Given the description of an element on the screen output the (x, y) to click on. 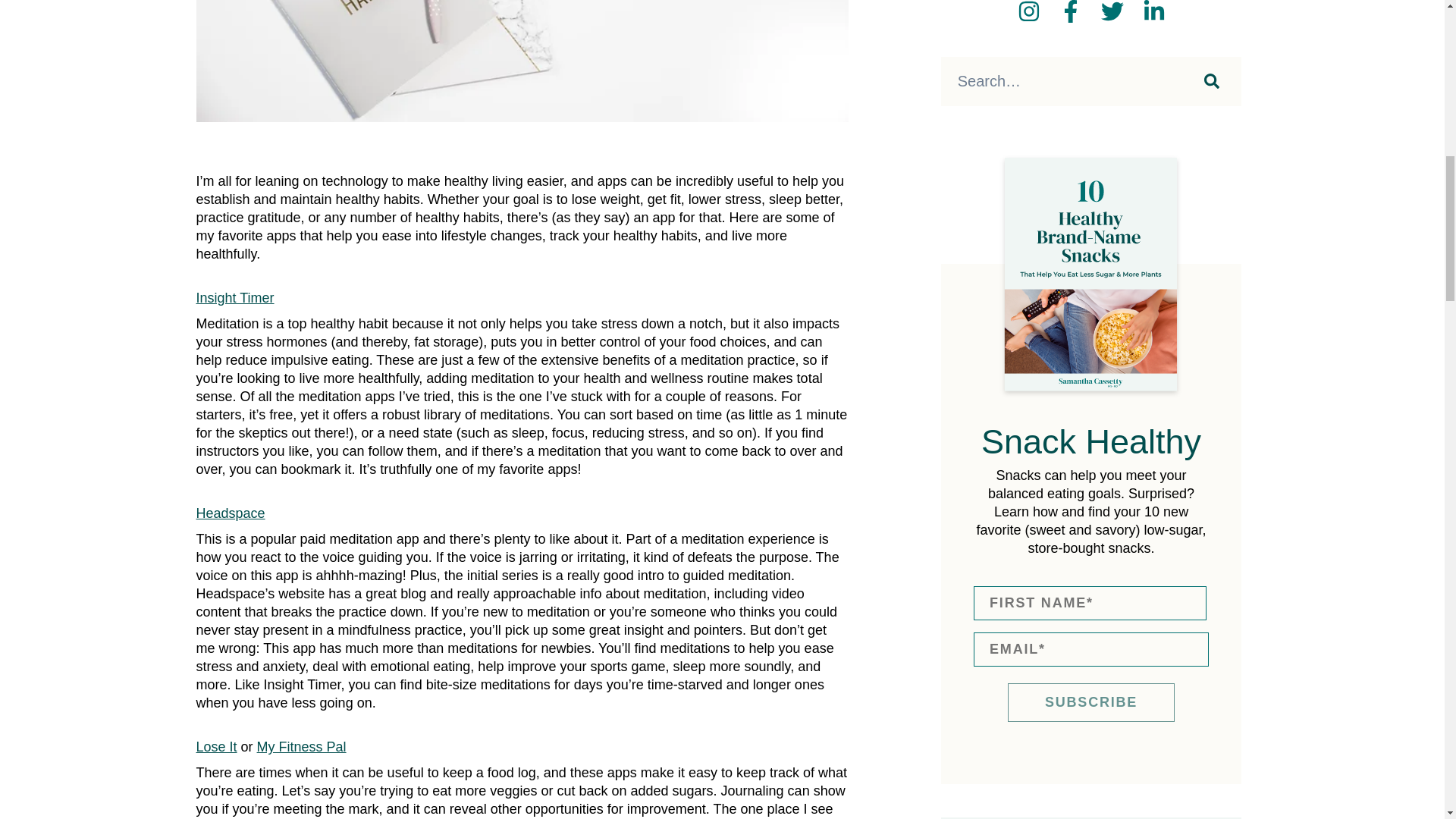
SUBSCRIBE (1090, 702)
Insight Timer (234, 297)
My Fitness Pal (301, 746)
Lose It (215, 746)
SUBSCRIBE (1090, 702)
Headspace (229, 513)
